Given the description of an element on the screen output the (x, y) to click on. 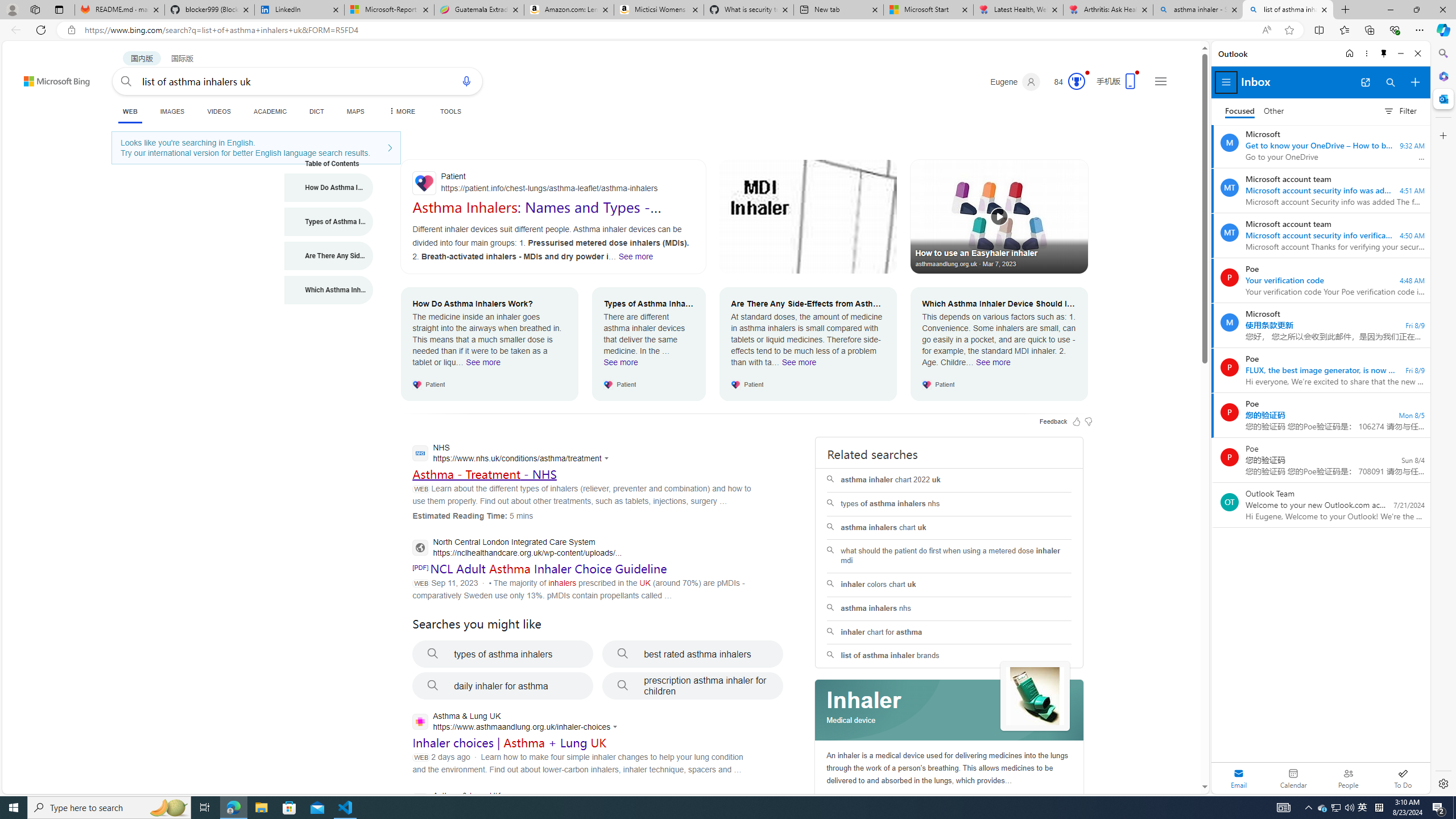
Focused Inbox, toggle to go to Other Inbox (1254, 110)
asthma inhaler chart 2022 uk (949, 480)
daily inhaler for asthma (503, 685)
Asthma Inhalers: Names and Types - Patient (536, 214)
Search more (1179, 753)
Filter (1399, 110)
Feedback Dislike (1088, 420)
asthma inhaler - Search (1197, 9)
